Given the description of an element on the screen output the (x, y) to click on. 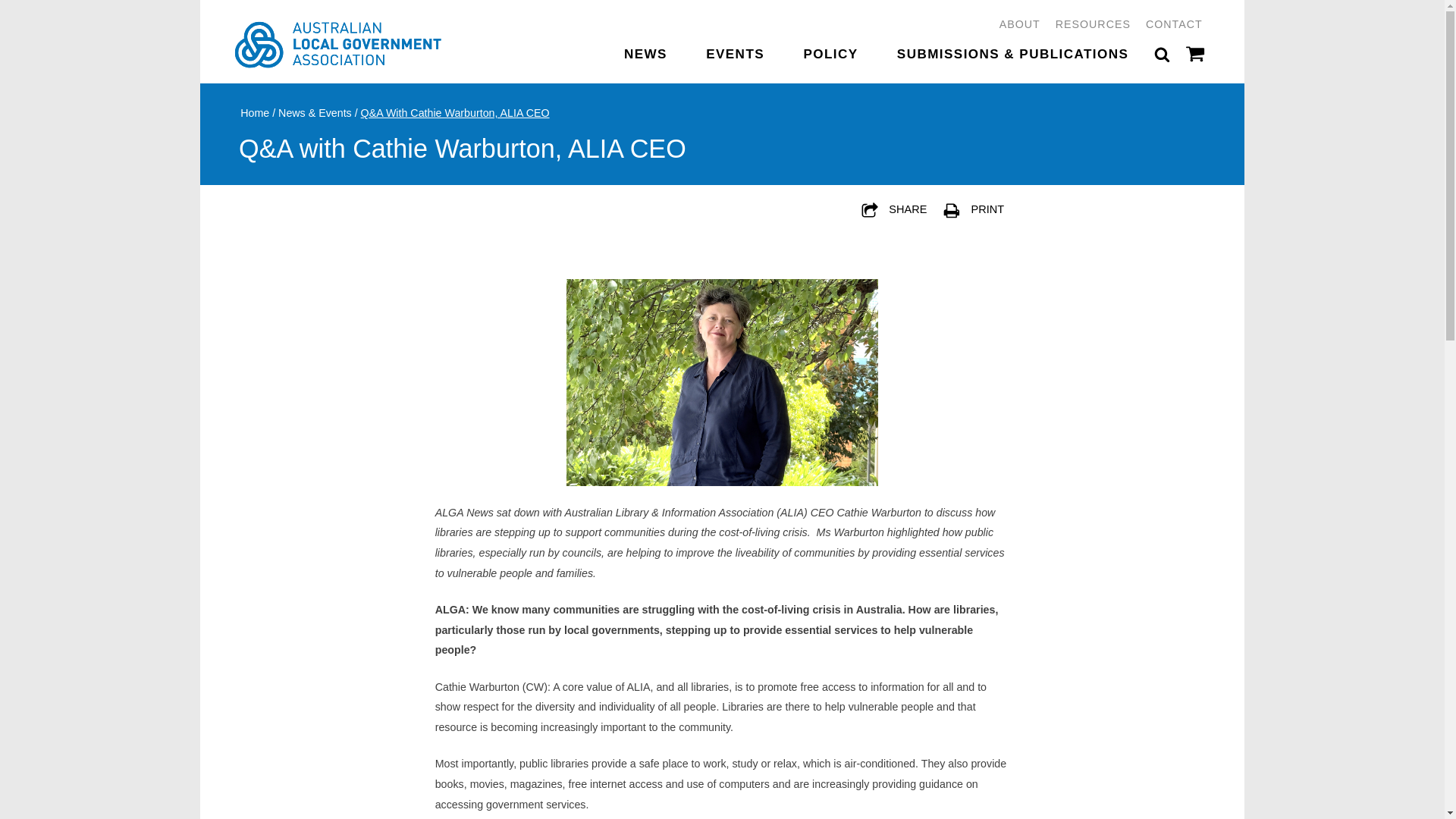
EVENTS (773, 57)
Home (268, 118)
NEWS (679, 57)
POLICY (874, 57)
